Given the description of an element on the screen output the (x, y) to click on. 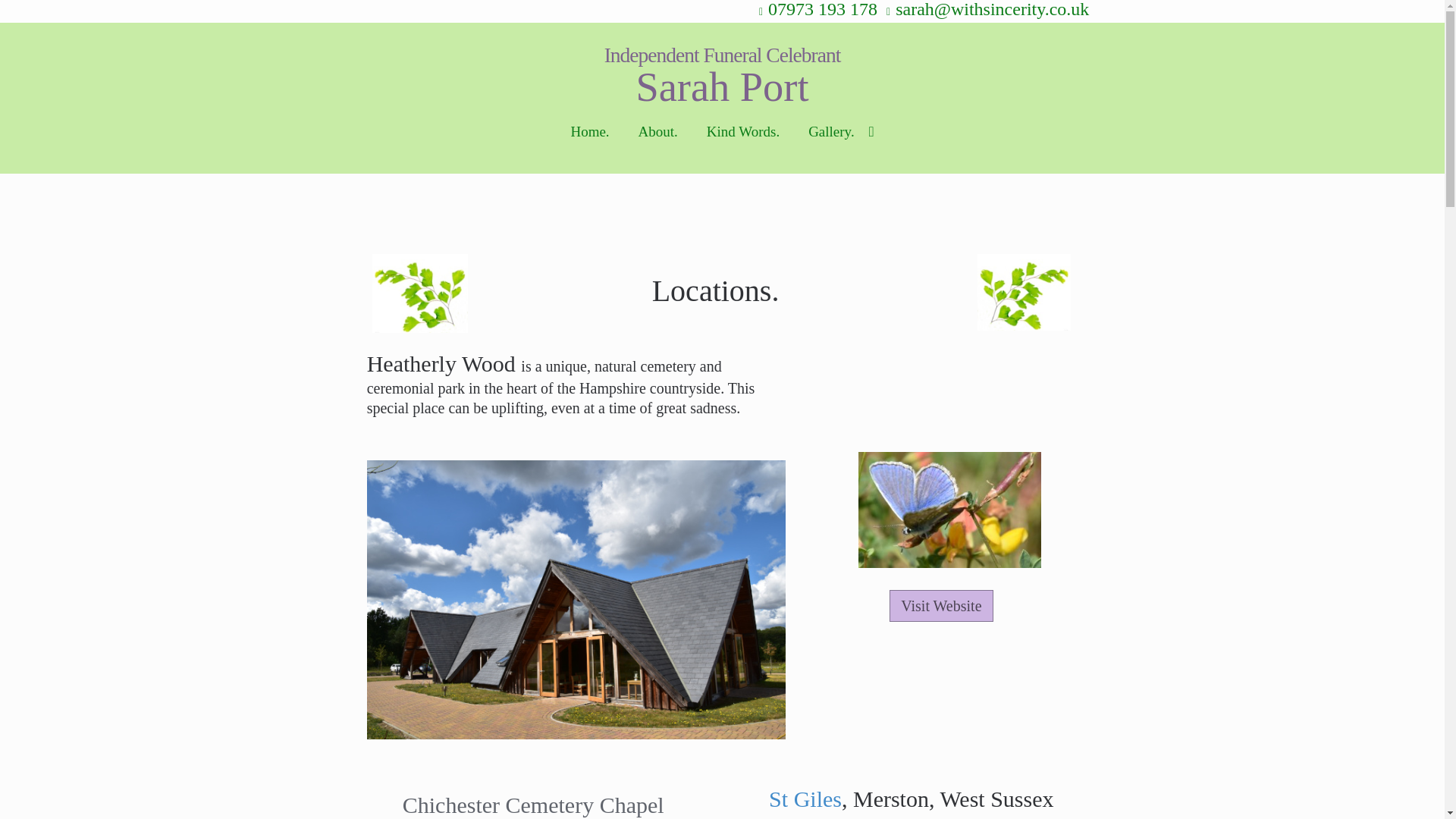
Independent Funeral Celebrant (722, 54)
St Giles (804, 798)
Visit Website (940, 605)
07973 193 178 (815, 9)
Gallery. (840, 147)
About. (658, 147)
Home. (589, 147)
Kind Words. (743, 147)
